Given the description of an element on the screen output the (x, y) to click on. 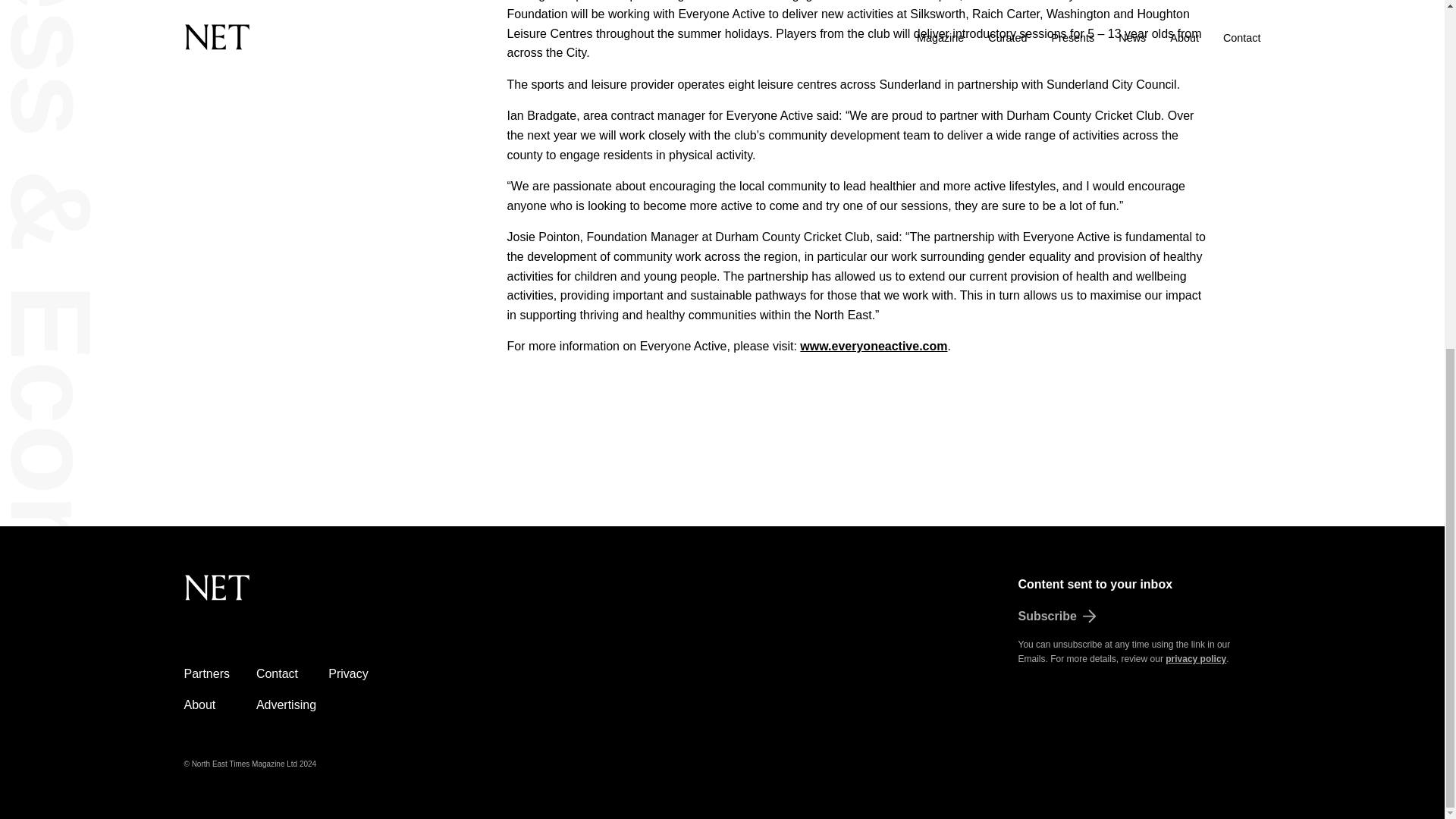
Contact (277, 673)
Return to the top of this page (293, 595)
About (199, 704)
privacy policy (1195, 658)
Read our full privacy notice (1195, 658)
Advertising (285, 704)
www.everyoneactive.com (873, 345)
Subscribe to the North East Times Magazine newsletter (1138, 616)
Subscribe (1138, 616)
Privacy (348, 673)
